Given the description of an element on the screen output the (x, y) to click on. 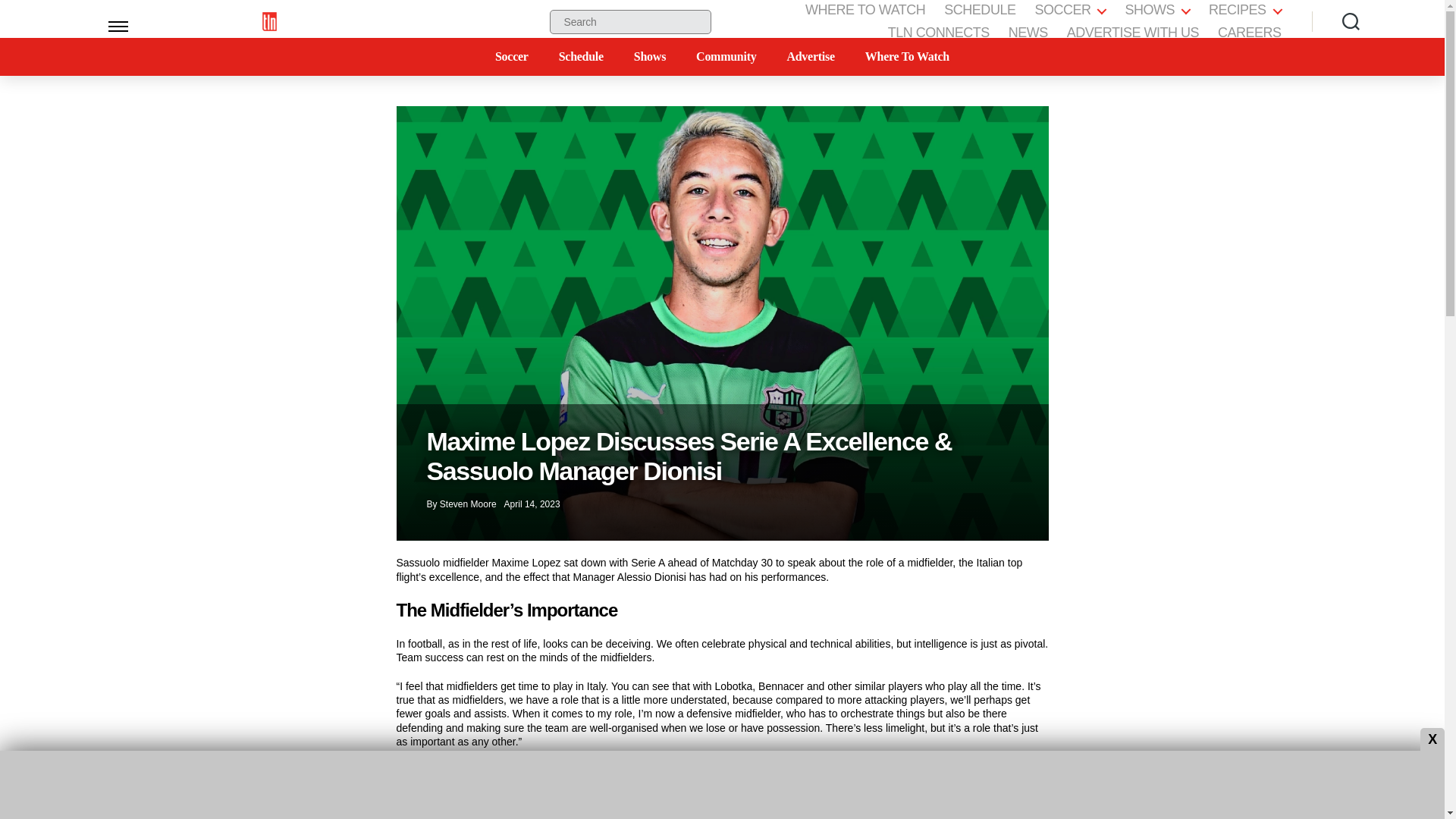
Soccer (511, 56)
RECIPES (1244, 10)
TLN CONNECTS (939, 32)
CAREERS (1249, 32)
NEWS (1028, 32)
SOCCER (1069, 10)
ADVERTISE WITH US (1132, 32)
Community (725, 56)
SHOWS (1156, 10)
Shows (649, 56)
